Given the description of an element on the screen output the (x, y) to click on. 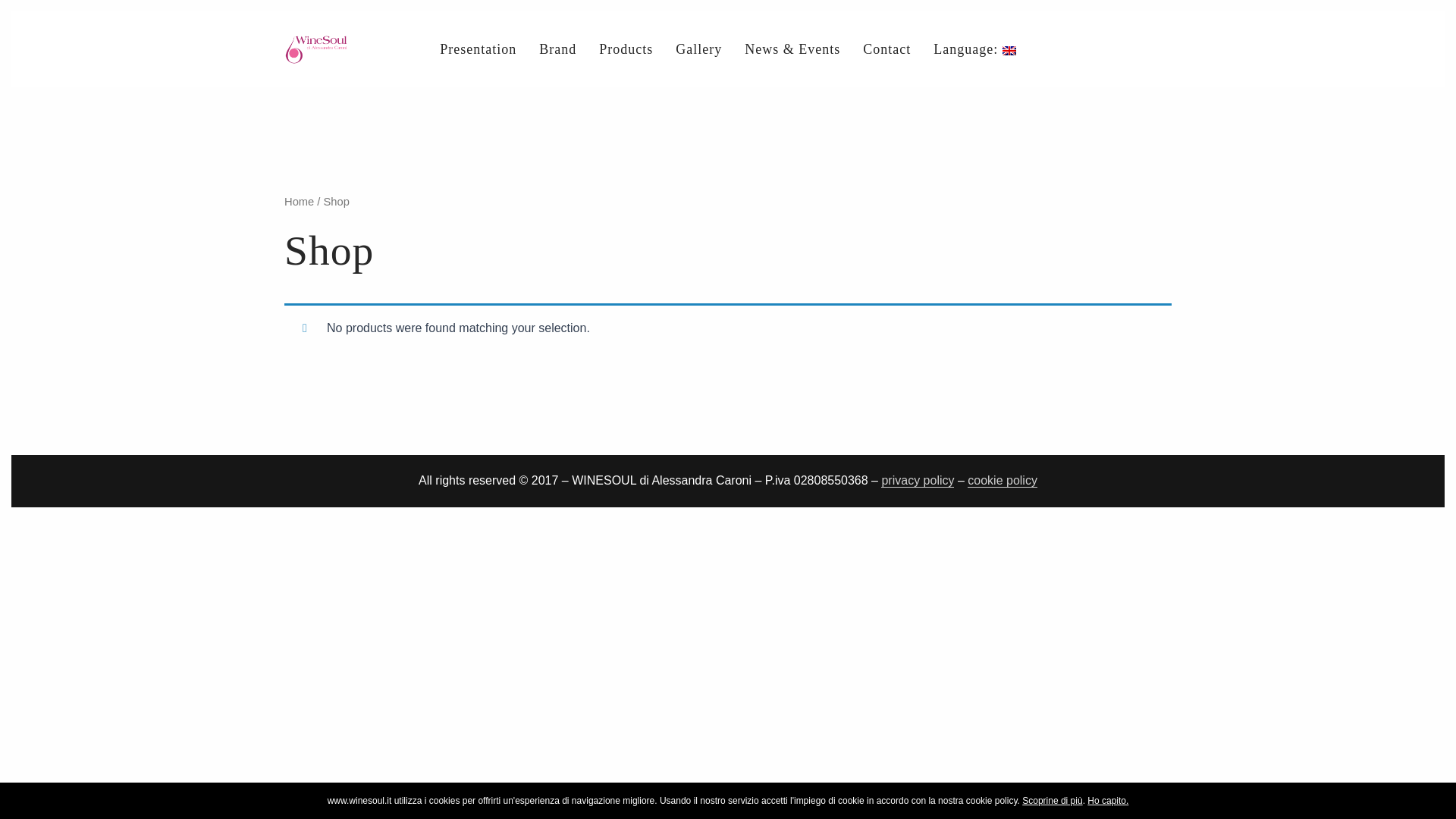
Contact (886, 49)
Gallery (698, 49)
Language:  (973, 49)
Brand (557, 49)
Products (625, 49)
Presentation (477, 49)
English (973, 49)
